Given the description of an element on the screen output the (x, y) to click on. 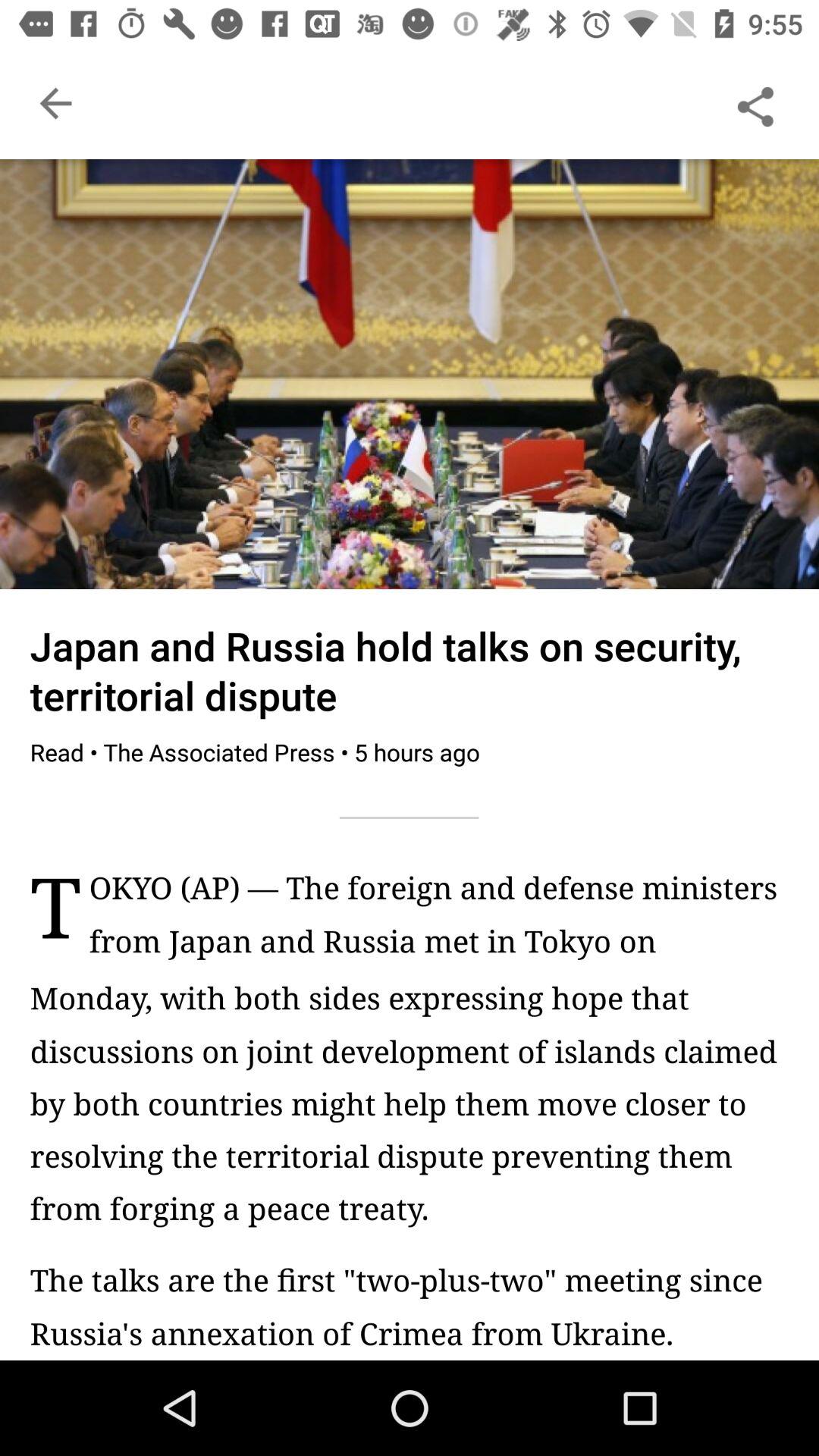
turn off the icon to the right of the t item (438, 922)
